Given the description of an element on the screen output the (x, y) to click on. 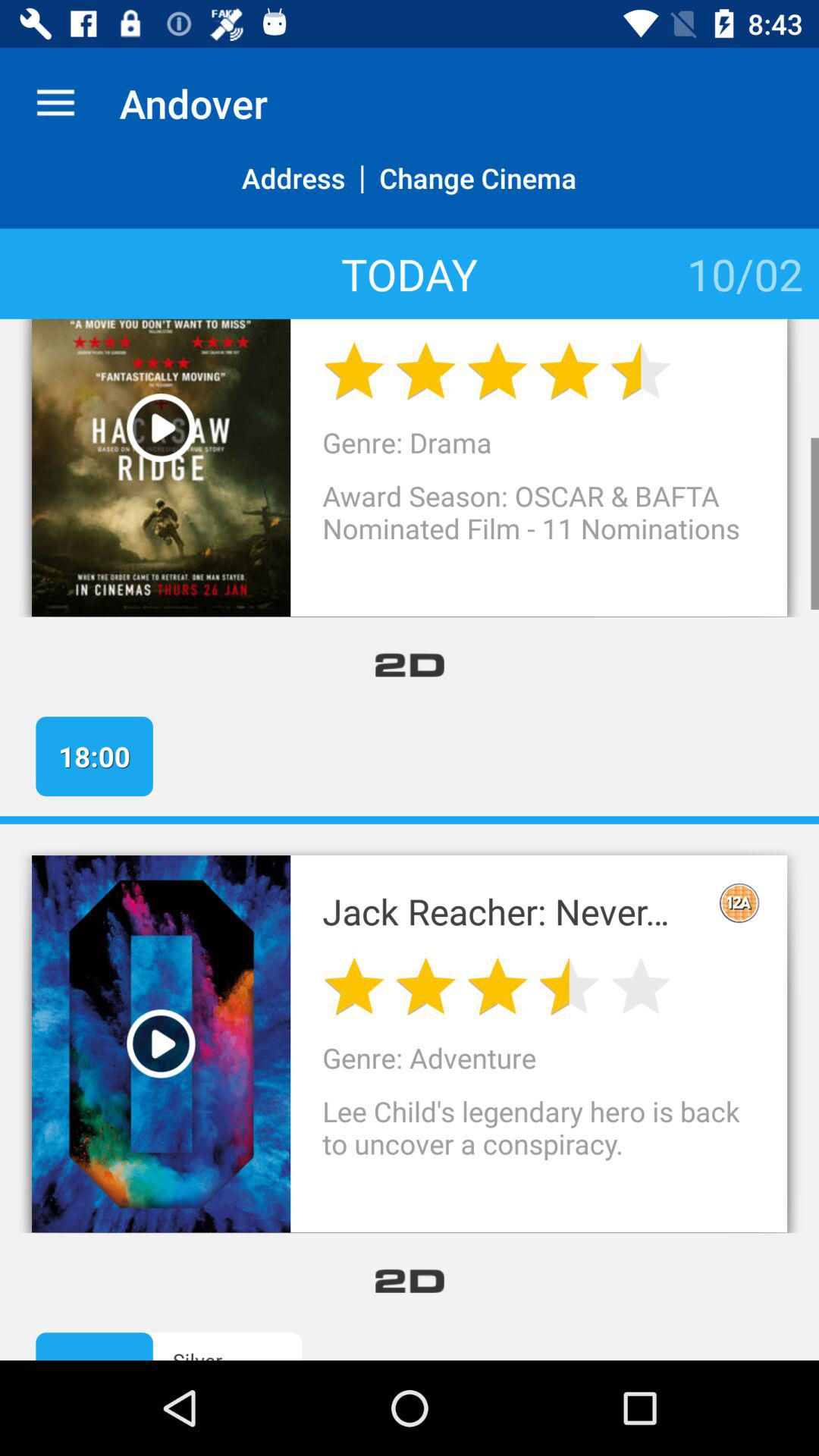
swipe to jack reacher never icon (510, 911)
